Given the description of an element on the screen output the (x, y) to click on. 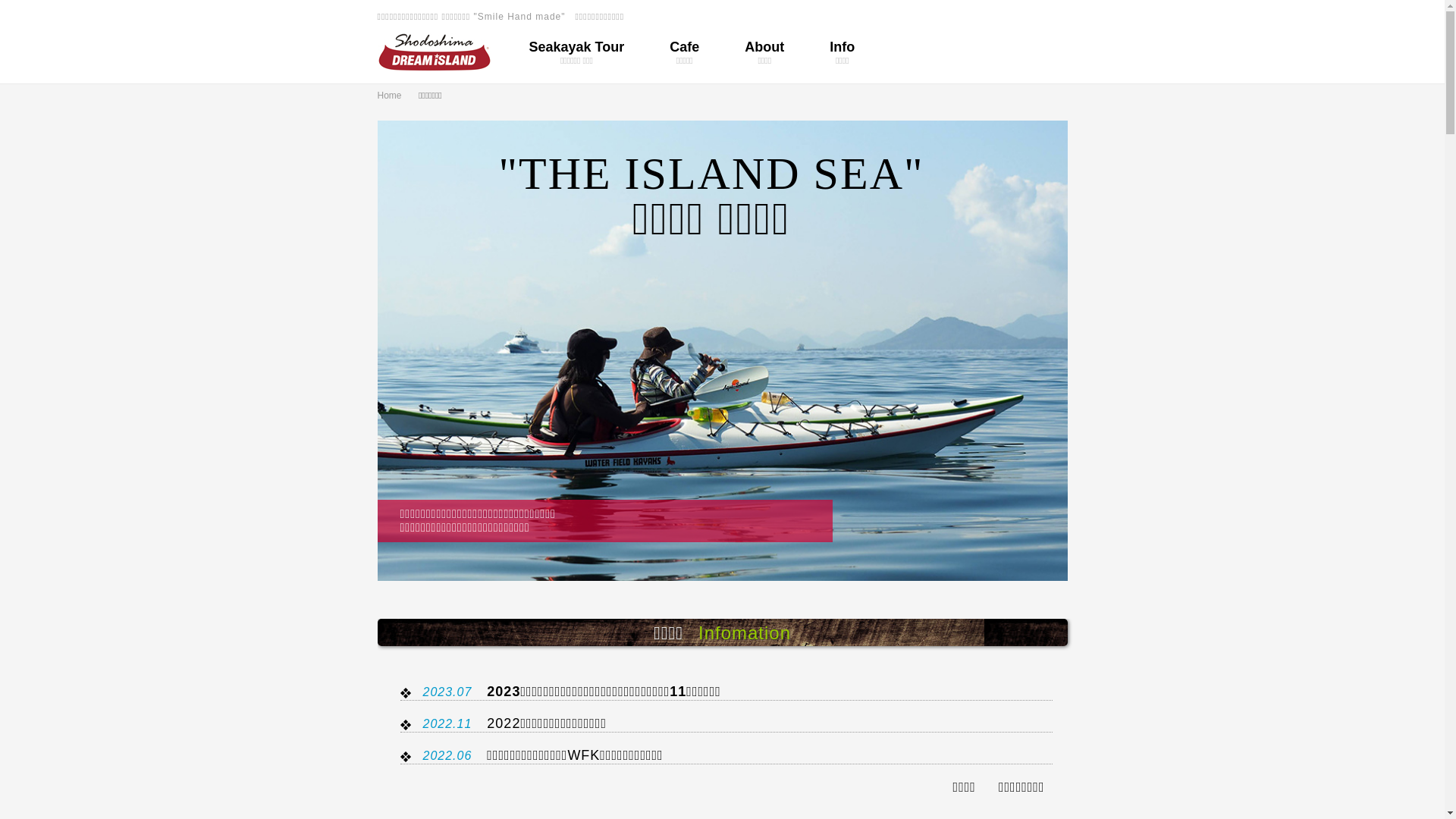
Home Element type: text (396, 95)
